Given the description of an element on the screen output the (x, y) to click on. 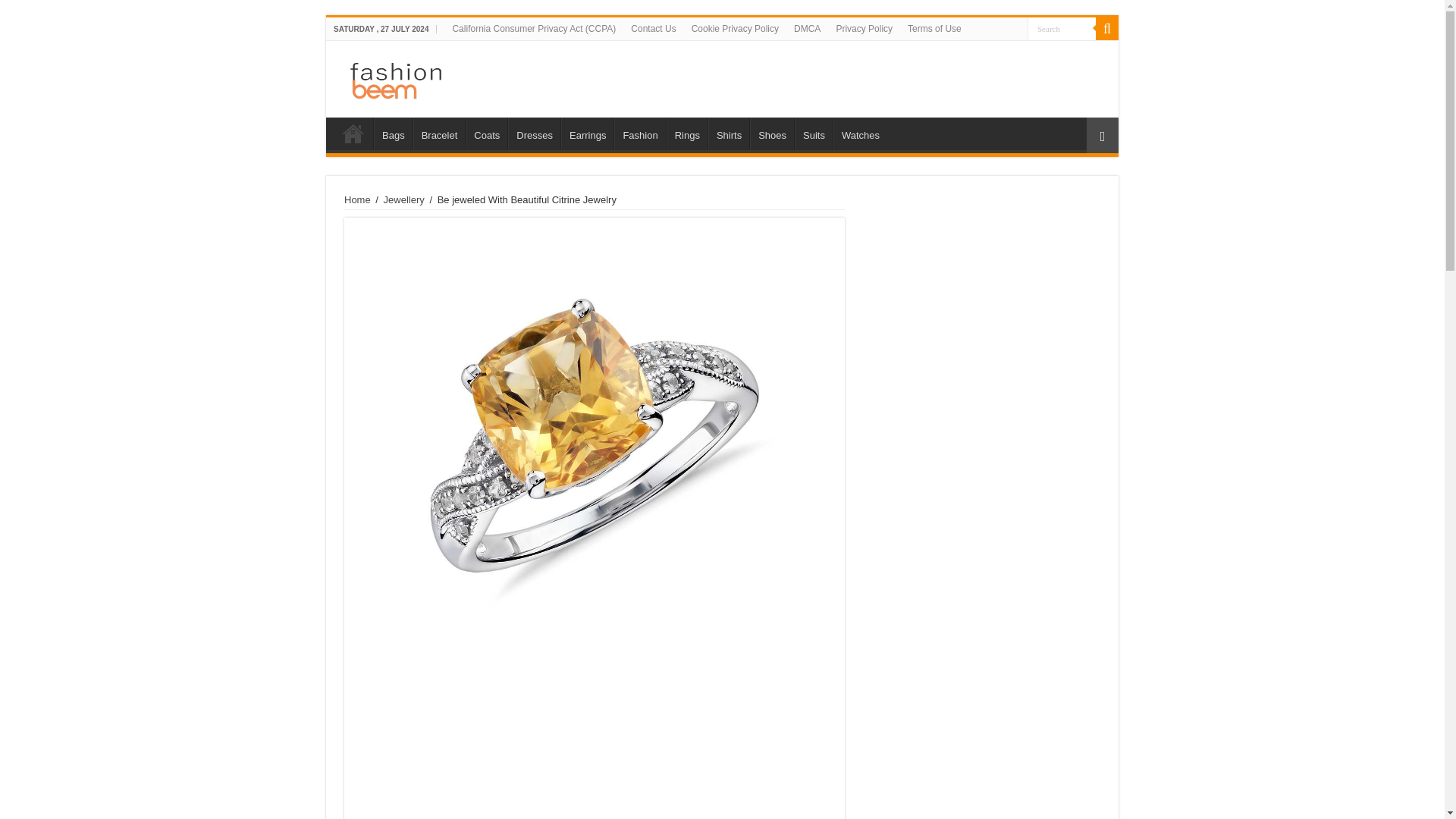
Advertisement (594, 734)
Shirts (728, 133)
Watches (859, 133)
Search (1061, 28)
Rings (686, 133)
Search (1061, 28)
Home (352, 133)
Home (357, 199)
Search (1107, 28)
Privacy Policy (863, 28)
bonofashion.com (721, 76)
Cookie Privacy Policy (735, 28)
Earrings (586, 133)
Jewellery (404, 199)
Bags (393, 133)
